Given the description of an element on the screen output the (x, y) to click on. 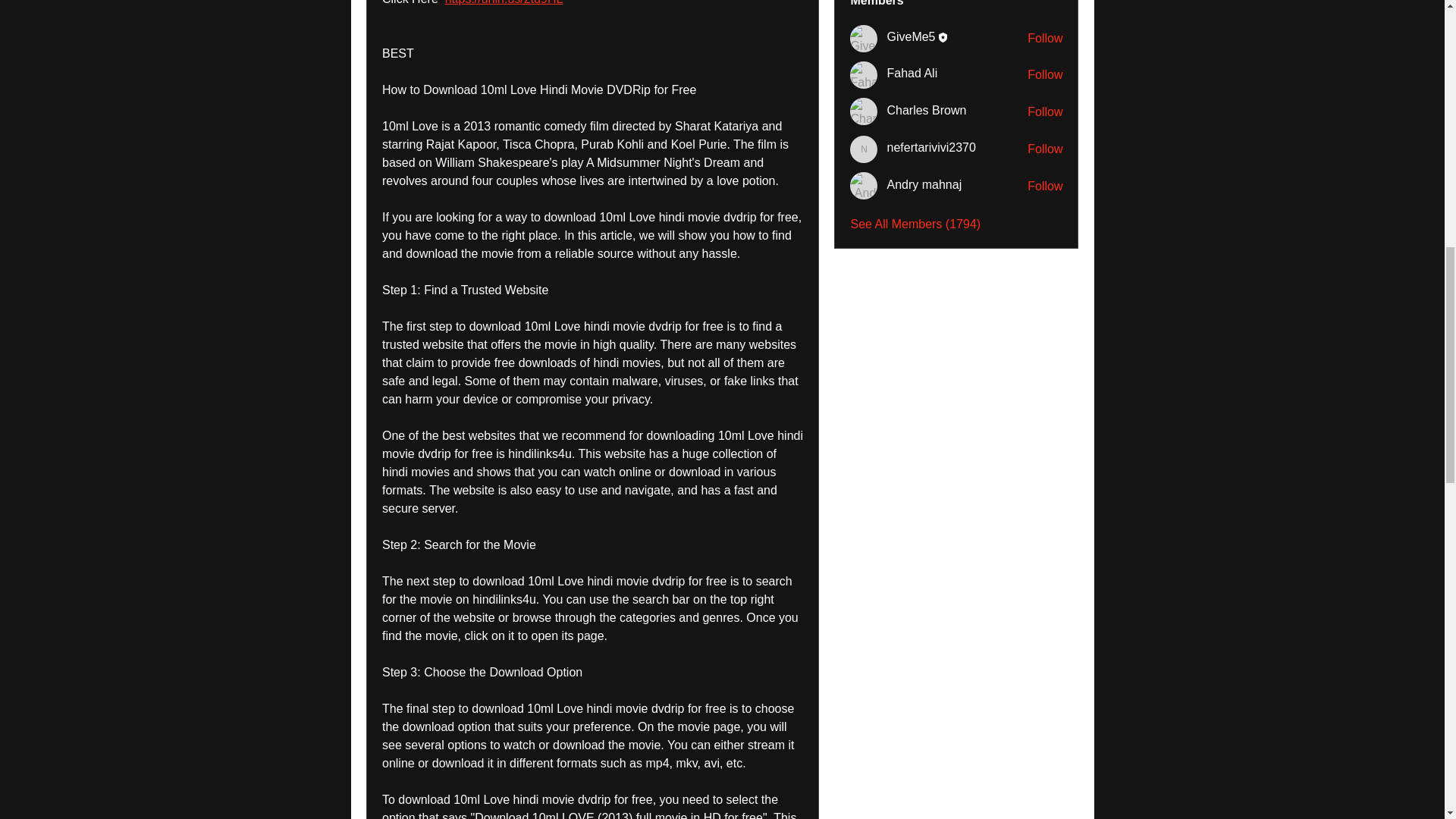
nefertarivivi2370 (863, 148)
Fahad Ali (863, 74)
Charles Brown (863, 111)
GiveMe5 (863, 38)
Andry mahnaj (863, 185)
